Given the description of an element on the screen output the (x, y) to click on. 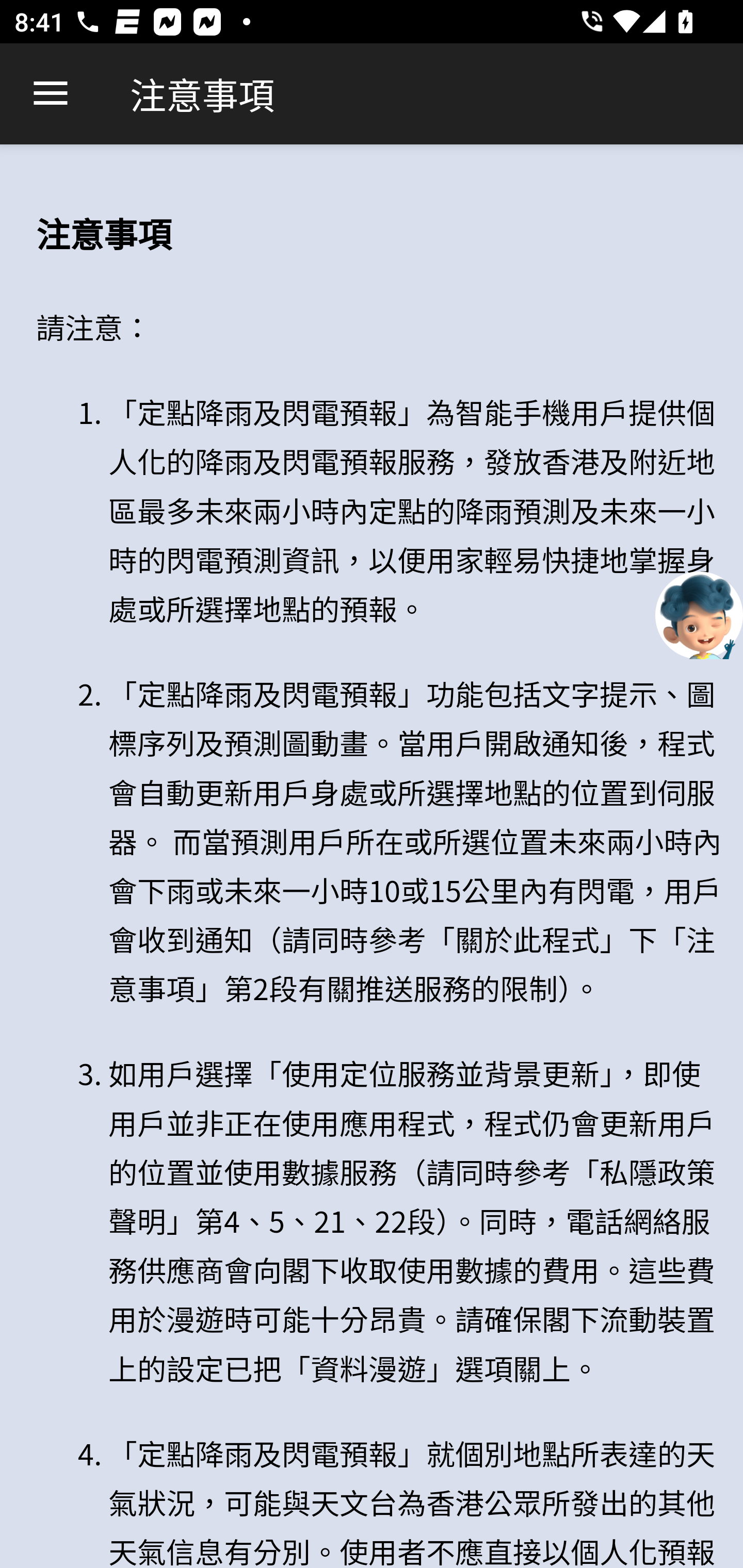
向上瀏覽 (50, 93)
聊天機械人 (699, 614)
